Given the description of an element on the screen output the (x, y) to click on. 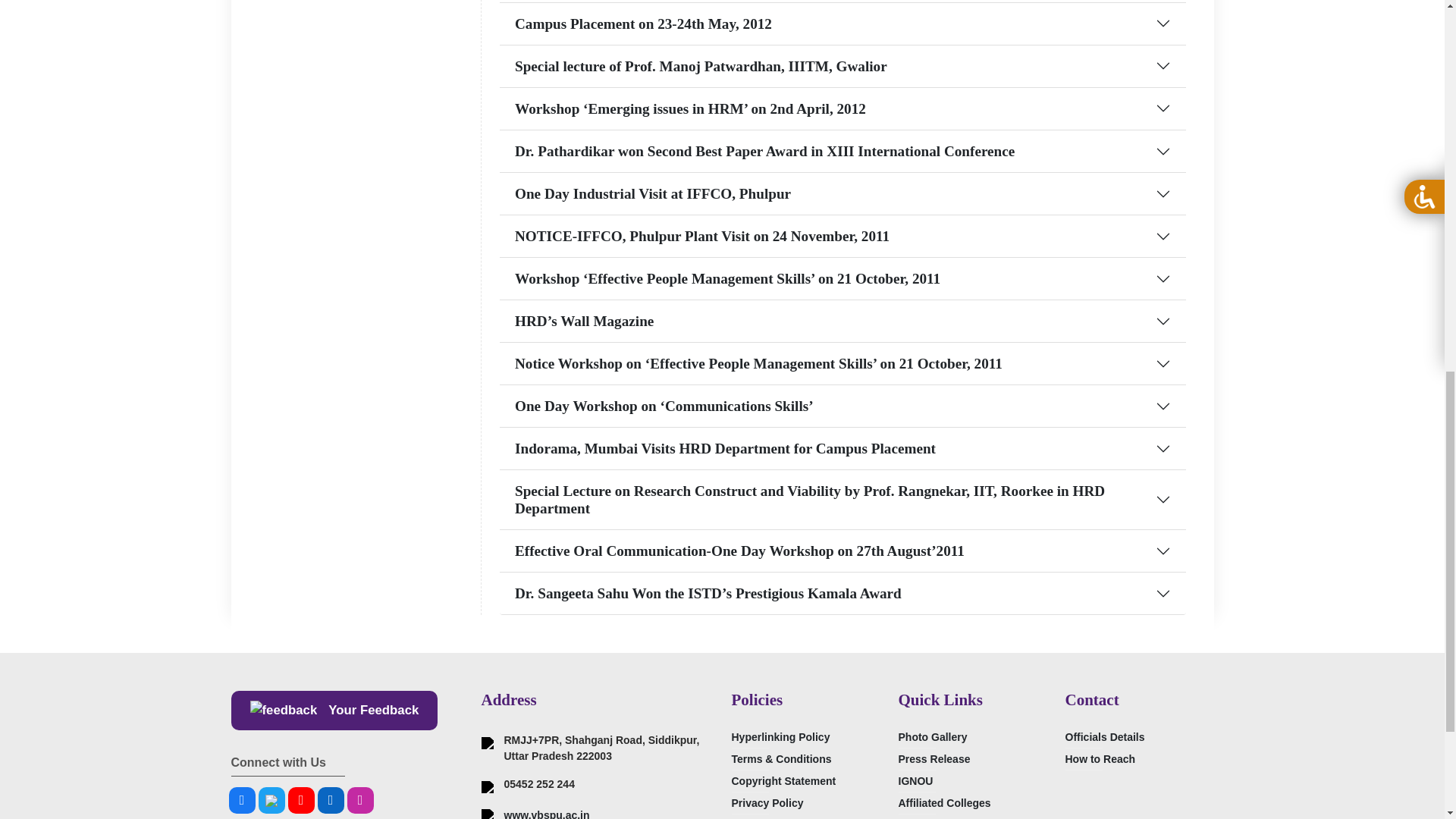
Facebook (242, 800)
Youtube (301, 800)
Linkedin (330, 800)
feedback (283, 711)
Instagram (360, 800)
Twitter (270, 800)
